Given the description of an element on the screen output the (x, y) to click on. 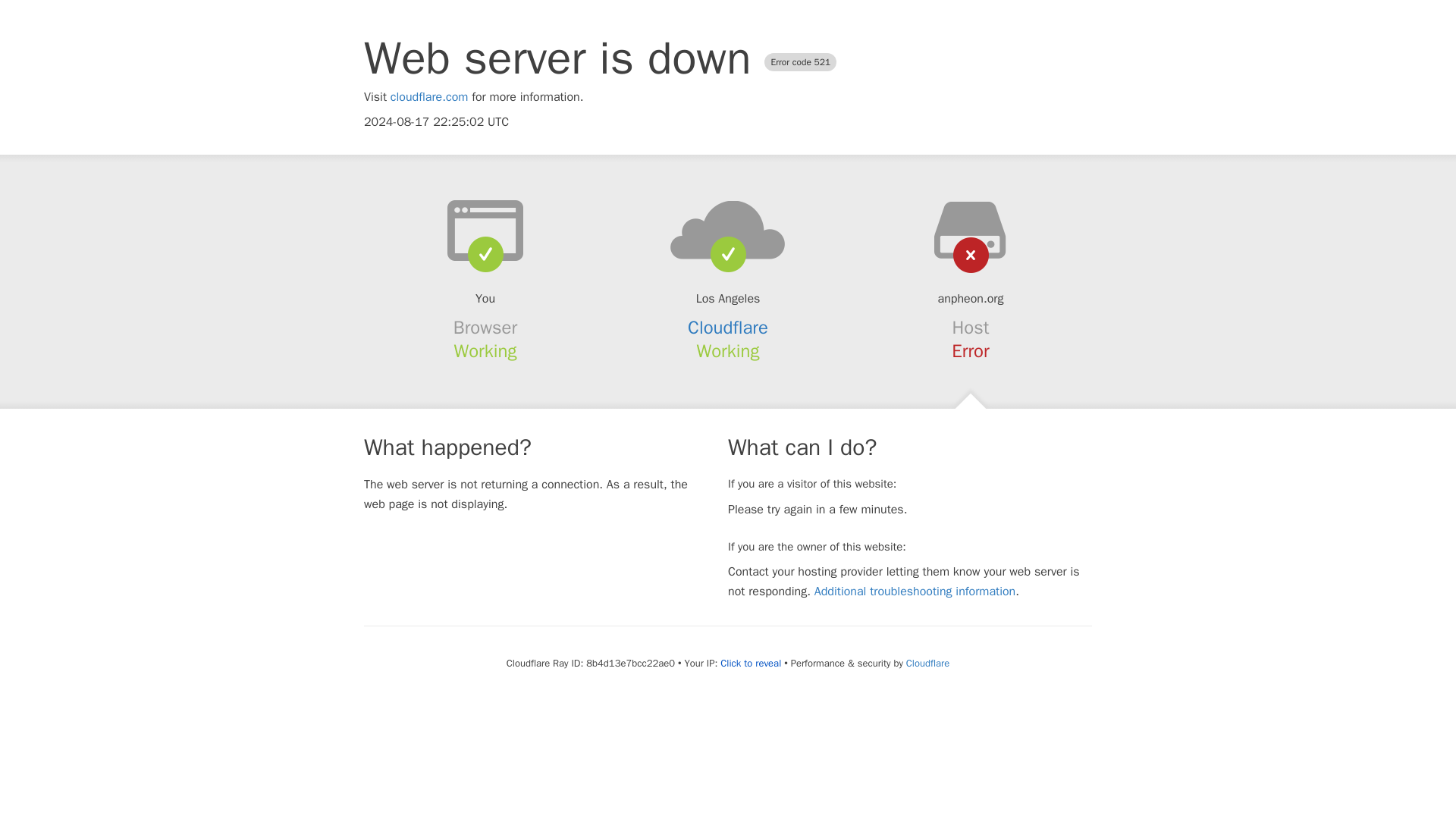
Click to reveal (750, 663)
Cloudflare (927, 662)
Cloudflare (727, 327)
Additional troubleshooting information (913, 590)
cloudflare.com (429, 96)
